Given the description of an element on the screen output the (x, y) to click on. 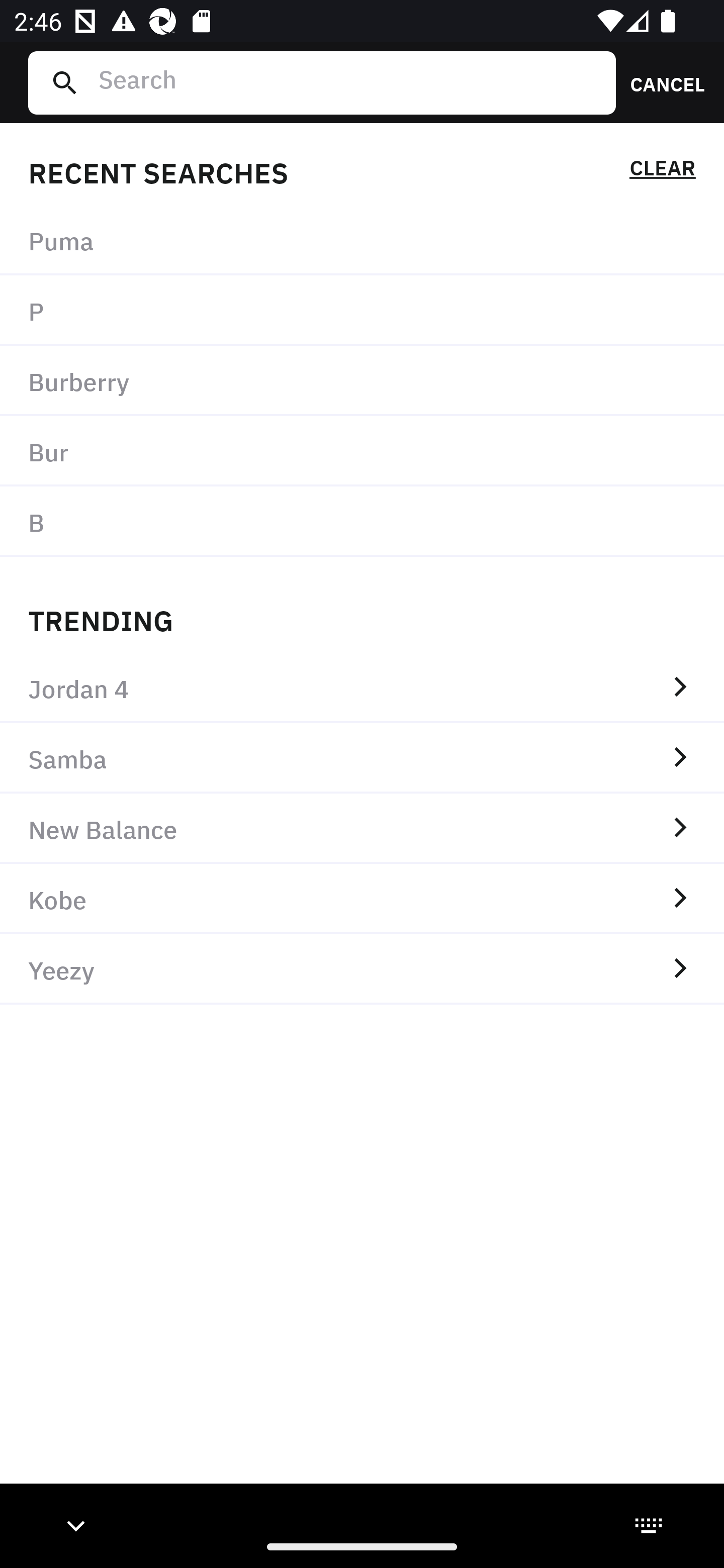
CANCEL (660, 82)
Search (349, 82)
CLEAR (662, 170)
Puma (362, 240)
P (362, 310)
Burberry (362, 380)
Bur (362, 450)
B (362, 521)
Jordan 4  (362, 687)
Samba  (362, 757)
New Balance  (362, 828)
Kobe  (362, 898)
Yeezy  (362, 969)
